Given the description of an element on the screen output the (x, y) to click on. 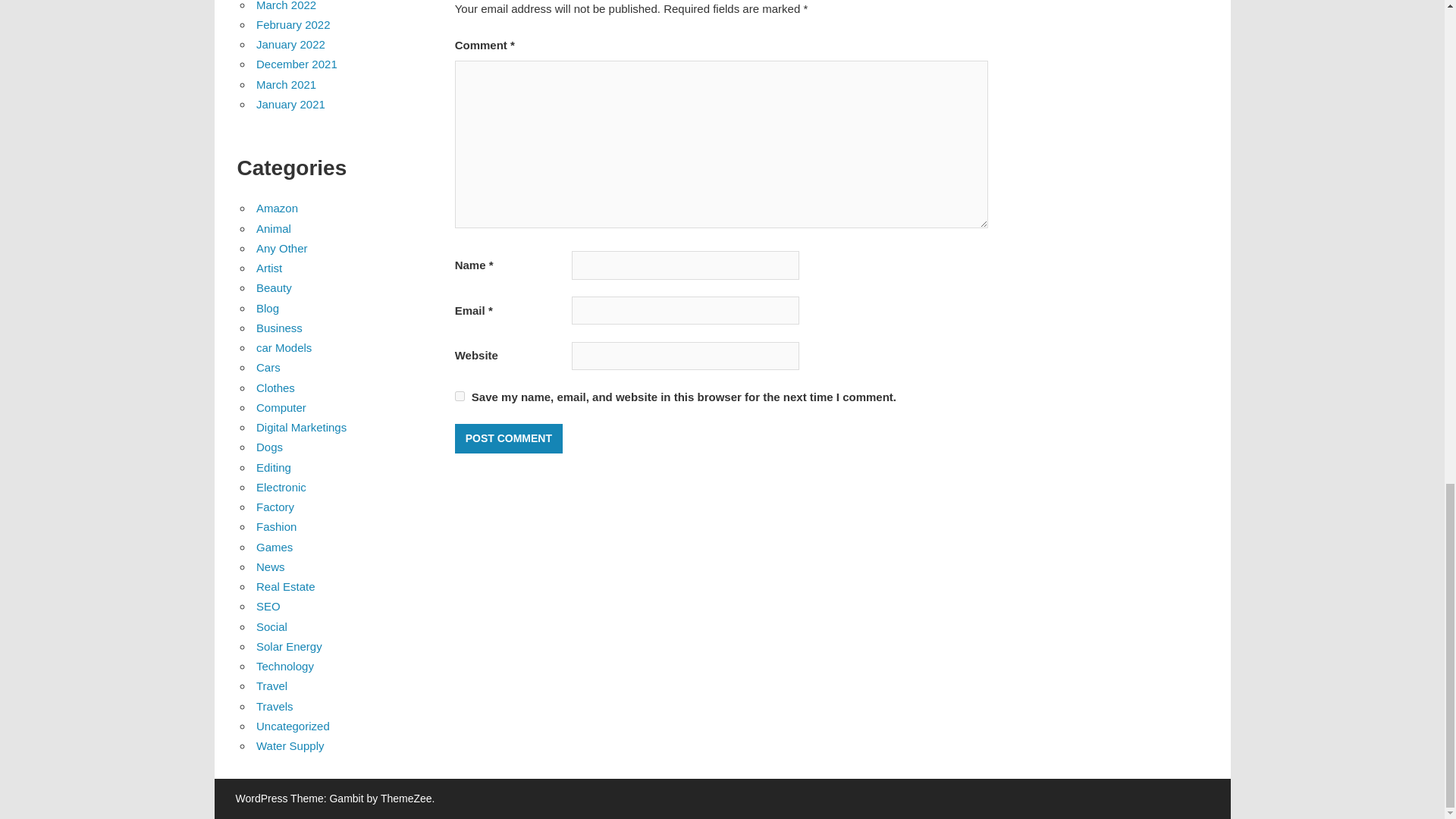
yes (459, 396)
Post Comment (508, 438)
Post Comment (508, 438)
